Given the description of an element on the screen output the (x, y) to click on. 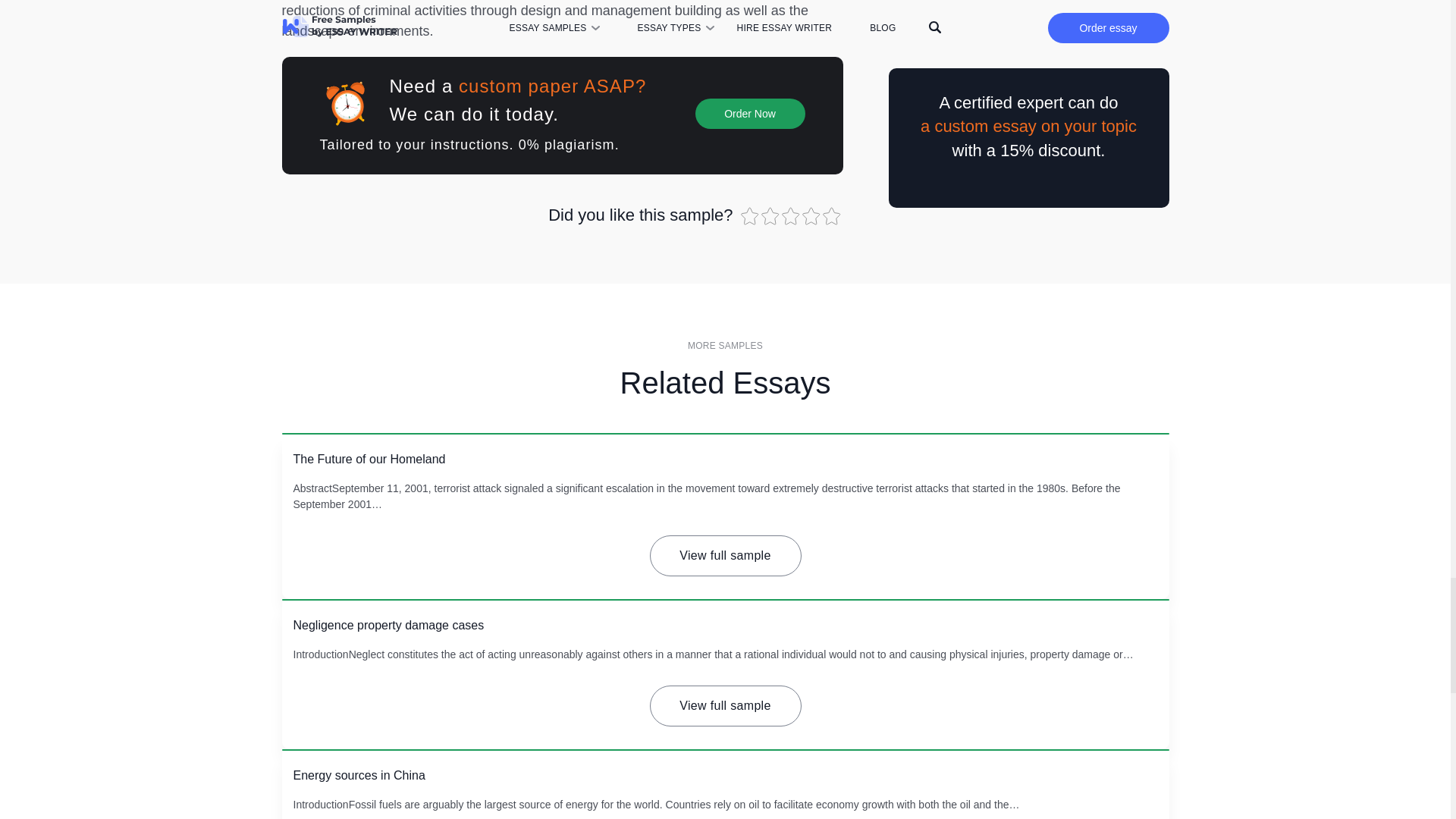
27 votes, average: 4.8 out of 5 (749, 216)
Energy sources in China (358, 775)
The Future of our Homeland (368, 459)
Negligence property damage cases (387, 625)
27 votes, average: 4.8 out of 5 (791, 216)
27 votes, average: 4.8 out of 5 (812, 216)
27 votes, average: 4.8 out of 5 (832, 216)
27 votes, average: 4.8 out of 5 (771, 216)
